Given the description of an element on the screen output the (x, y) to click on. 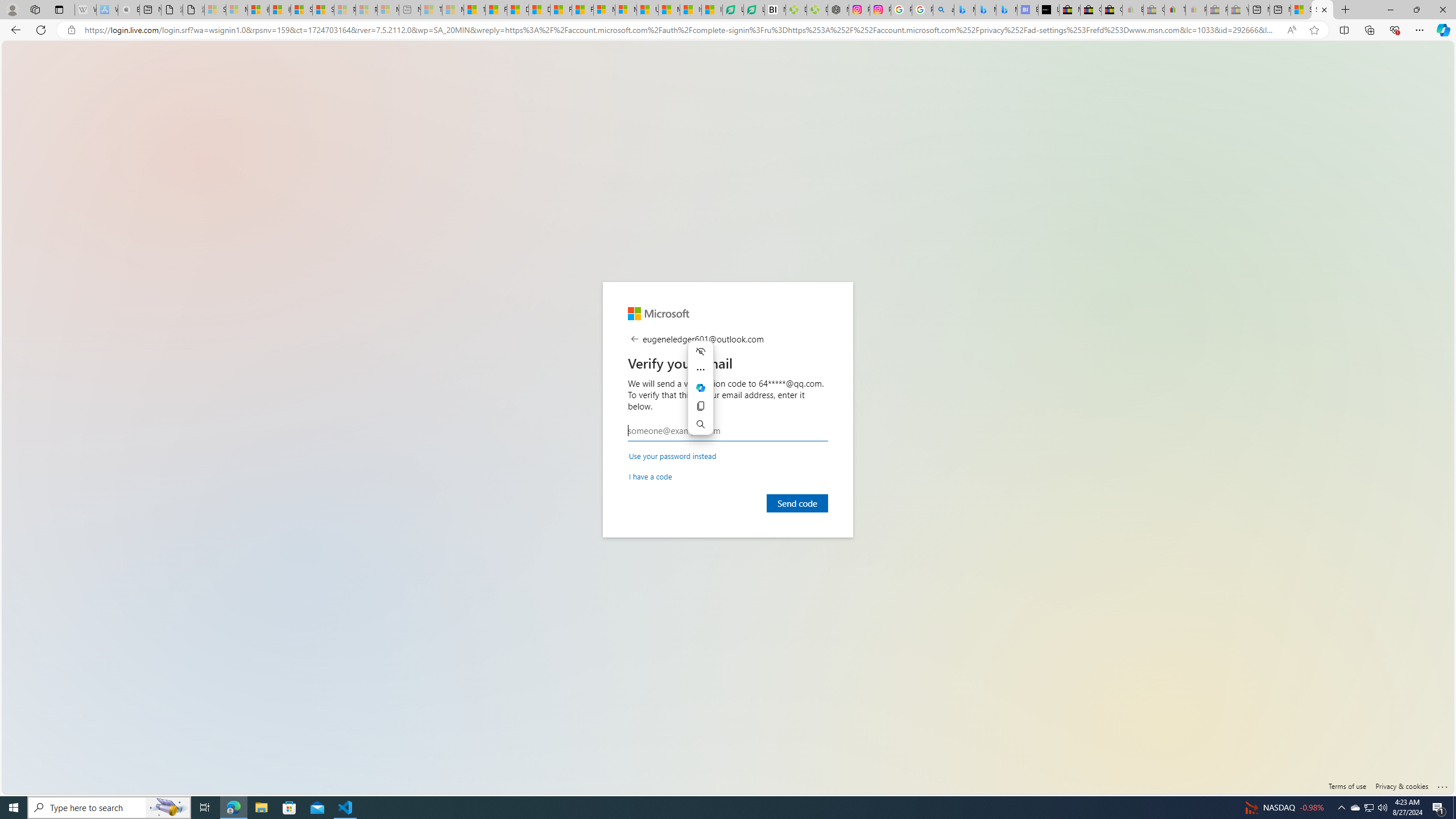
Microsoft Bing Travel - Shangri-La Hotel Bangkok (1006, 9)
Payments Terms of Use | eBay.com - Sleeping (1195, 9)
Click here for troubleshooting information (1442, 784)
Press Room - eBay Inc. - Sleeping (1216, 9)
Privacy & cookies (1401, 785)
